Given the description of an element on the screen output the (x, y) to click on. 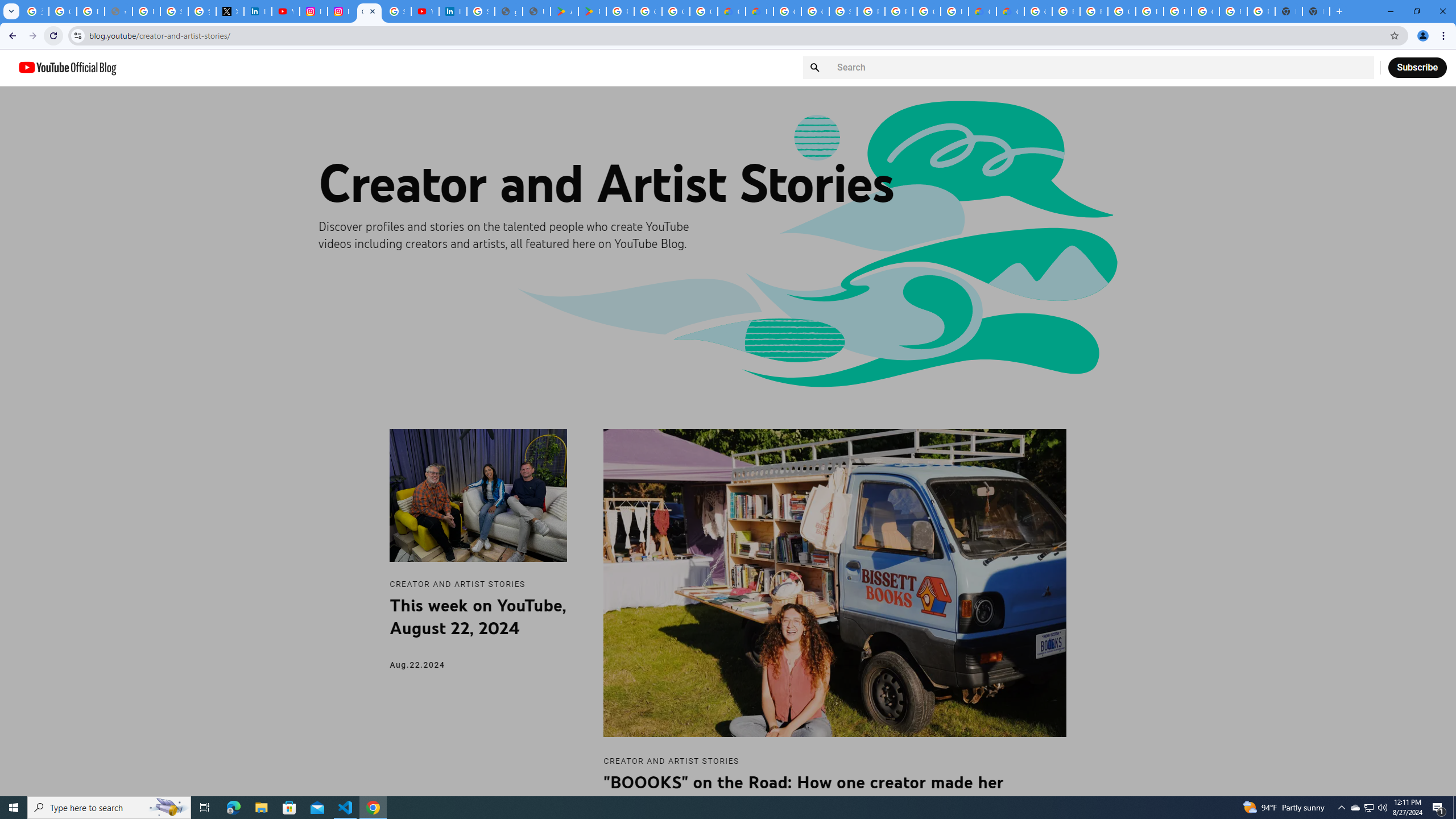
Google Cloud Platform (1038, 11)
Google Workspace - Specific Terms (675, 11)
AutomationID: search_bar_input_header (1089, 67)
YouTube Official Blog logo (67, 67)
Submit Search (816, 67)
Google Cloud Estimate Summary (1010, 11)
User Details (536, 11)
